Given the description of an element on the screen output the (x, y) to click on. 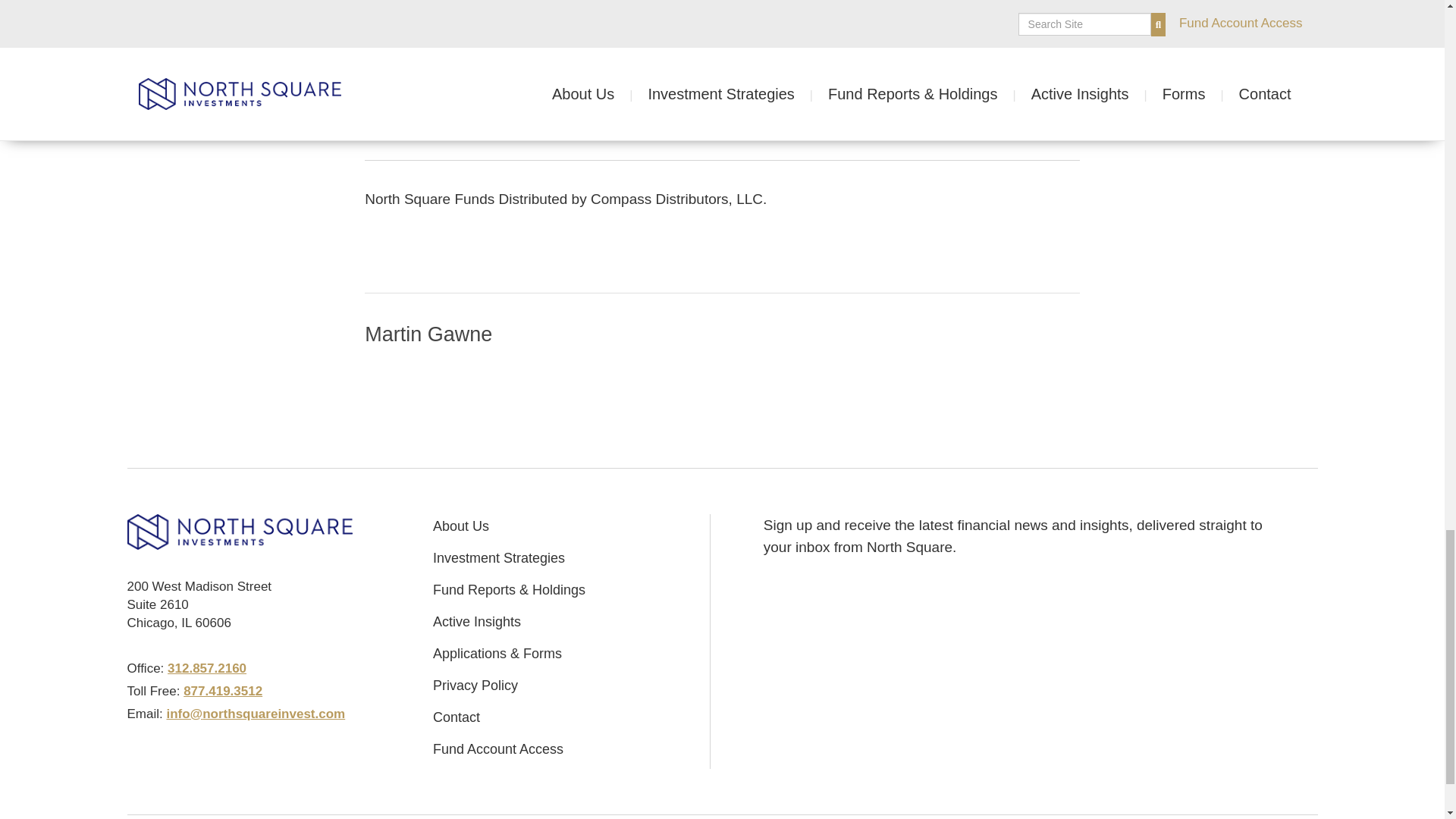
please click here. (822, 42)
Investment Strategies (498, 558)
312.857.2160 (206, 667)
Fund Account Access (497, 749)
About Us (460, 526)
Active Insights (476, 621)
877.419.3512 (222, 690)
Privacy Policy (475, 685)
Contact (456, 717)
